Given the description of an element on the screen output the (x, y) to click on. 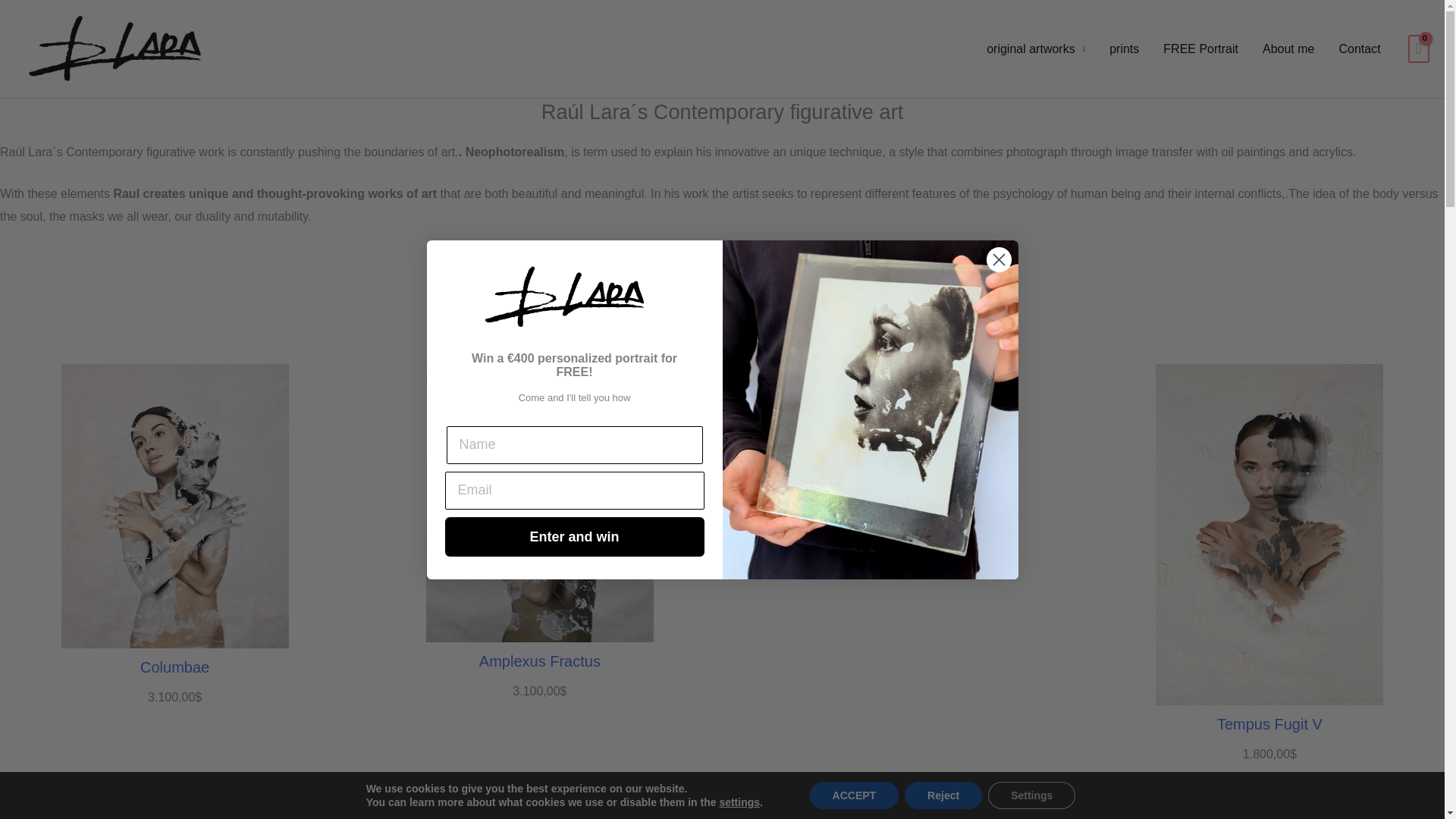
Watch all artworks (721, 335)
FREE Portrait (1200, 49)
About me (1288, 49)
Contact (1358, 49)
Columbae (174, 667)
original artworks (1035, 49)
Amplexus Fractus (539, 660)
prints (1124, 49)
